Given the description of an element on the screen output the (x, y) to click on. 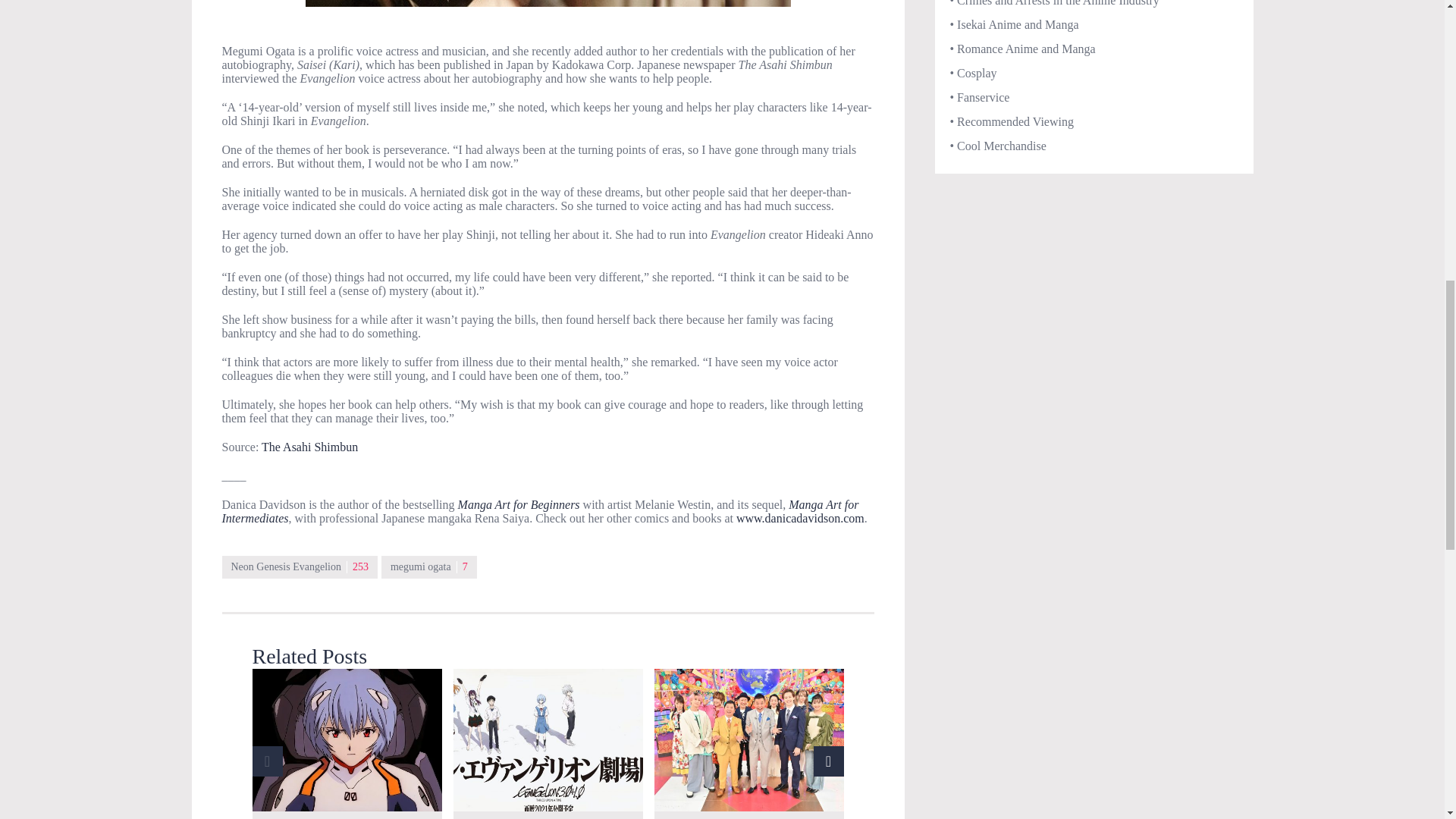
Hideaki Anno Says There Might Be More Evangelion Anime (547, 740)
www.danicadavidson.com (800, 517)
Manga Art for Beginners (520, 504)
Manga Art for Intermediates (540, 510)
megumi ogata 7 (429, 567)
Neon Genesis Evangelion 253 (299, 567)
Previous (266, 761)
The Asahi Shimbun (310, 446)
